Given the description of an element on the screen output the (x, y) to click on. 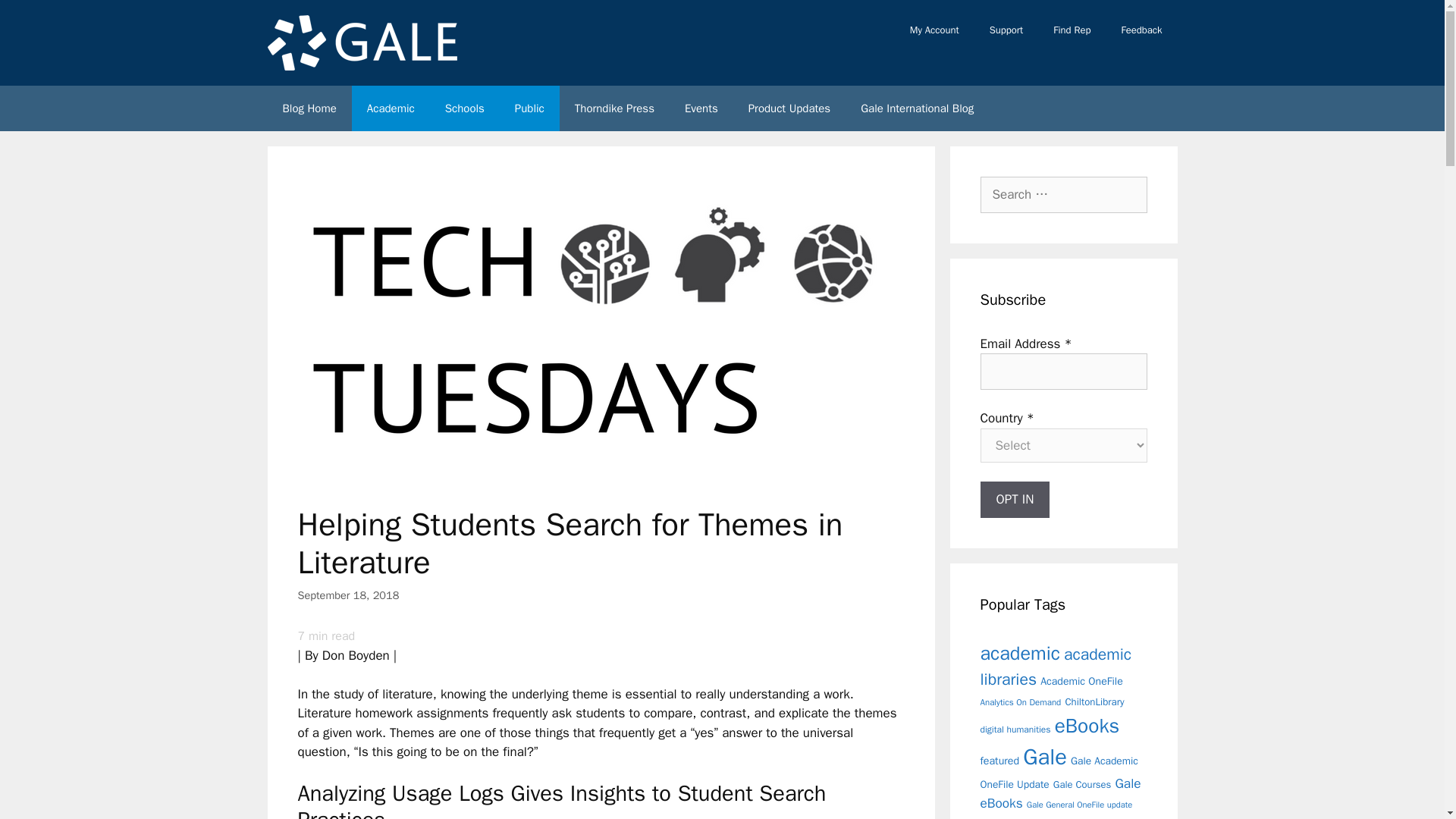
Academic (390, 108)
OPT IN (1014, 499)
Gale Courses (1082, 784)
Gale General OneFile update (1079, 804)
Analytics On Demand (1020, 701)
Gale International Blog (916, 108)
Search (35, 18)
Schools (464, 108)
eBooks (1086, 725)
Events (701, 108)
Blog Home (308, 108)
featured (999, 760)
Gale eBooks (1059, 792)
Feedback (1140, 30)
Product Updates (789, 108)
